Given the description of an element on the screen output the (x, y) to click on. 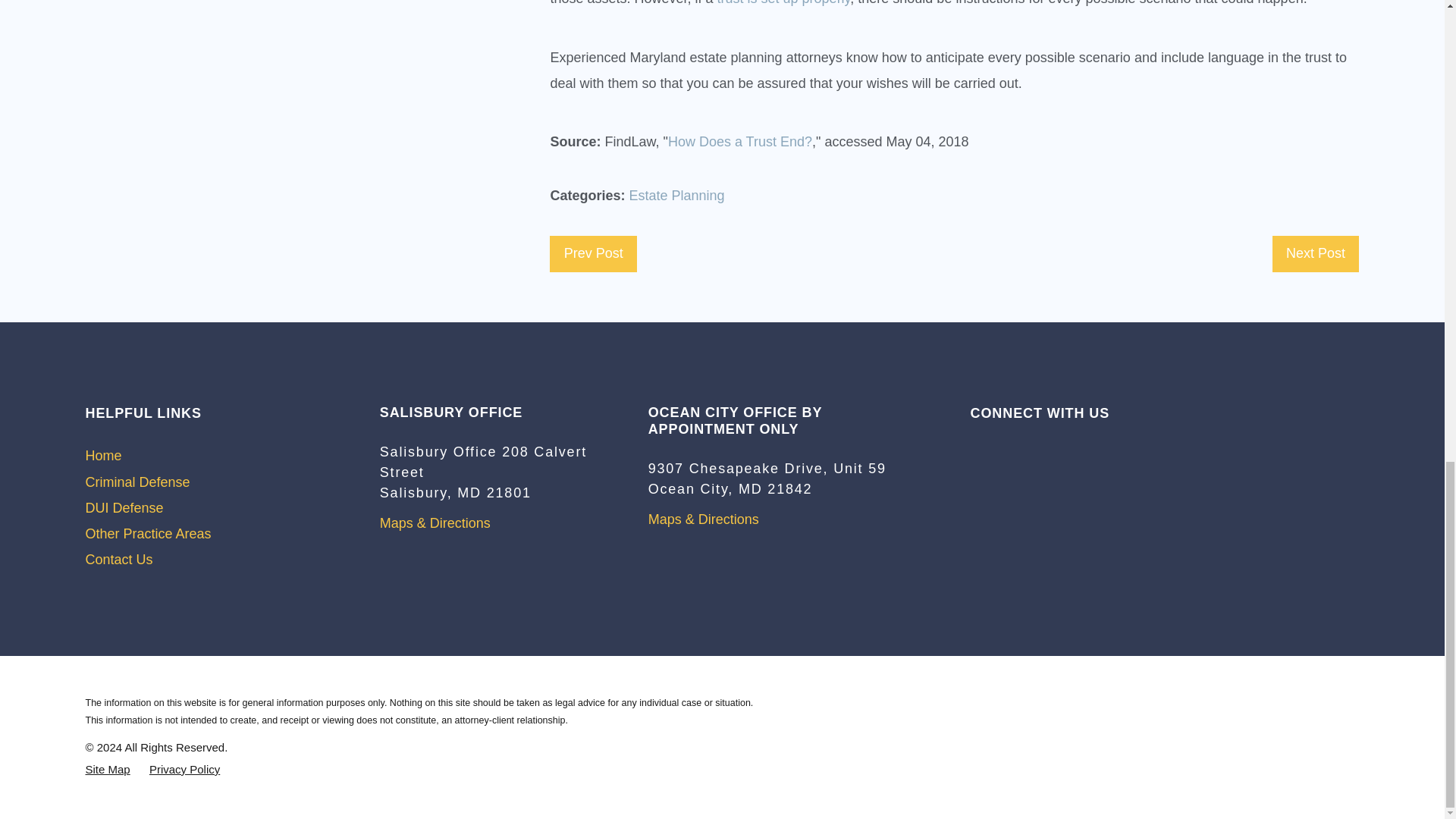
LinkedIn (1033, 449)
Twitter (1005, 449)
Google Business Profile (977, 449)
